Given the description of an element on the screen output the (x, y) to click on. 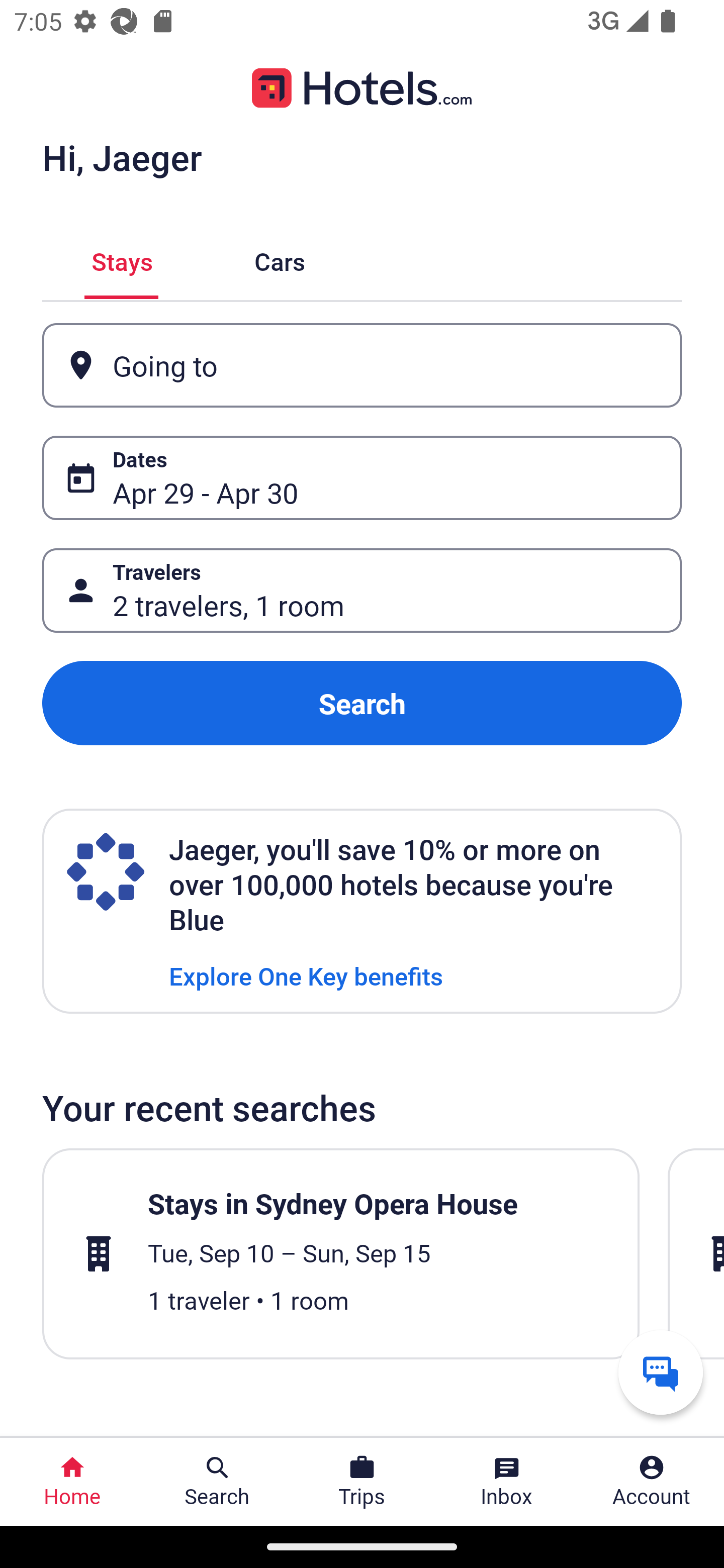
Hi, Jaeger (121, 156)
Cars (279, 259)
Going to Button (361, 365)
Dates Button Apr 29 - Apr 30 (361, 477)
Travelers Button 2 travelers, 1 room (361, 590)
Search (361, 702)
Get help from a virtual agent (660, 1371)
Search Search Button (216, 1481)
Trips Trips Button (361, 1481)
Inbox Inbox Button (506, 1481)
Account Profile. Button (651, 1481)
